Given the description of an element on the screen output the (x, y) to click on. 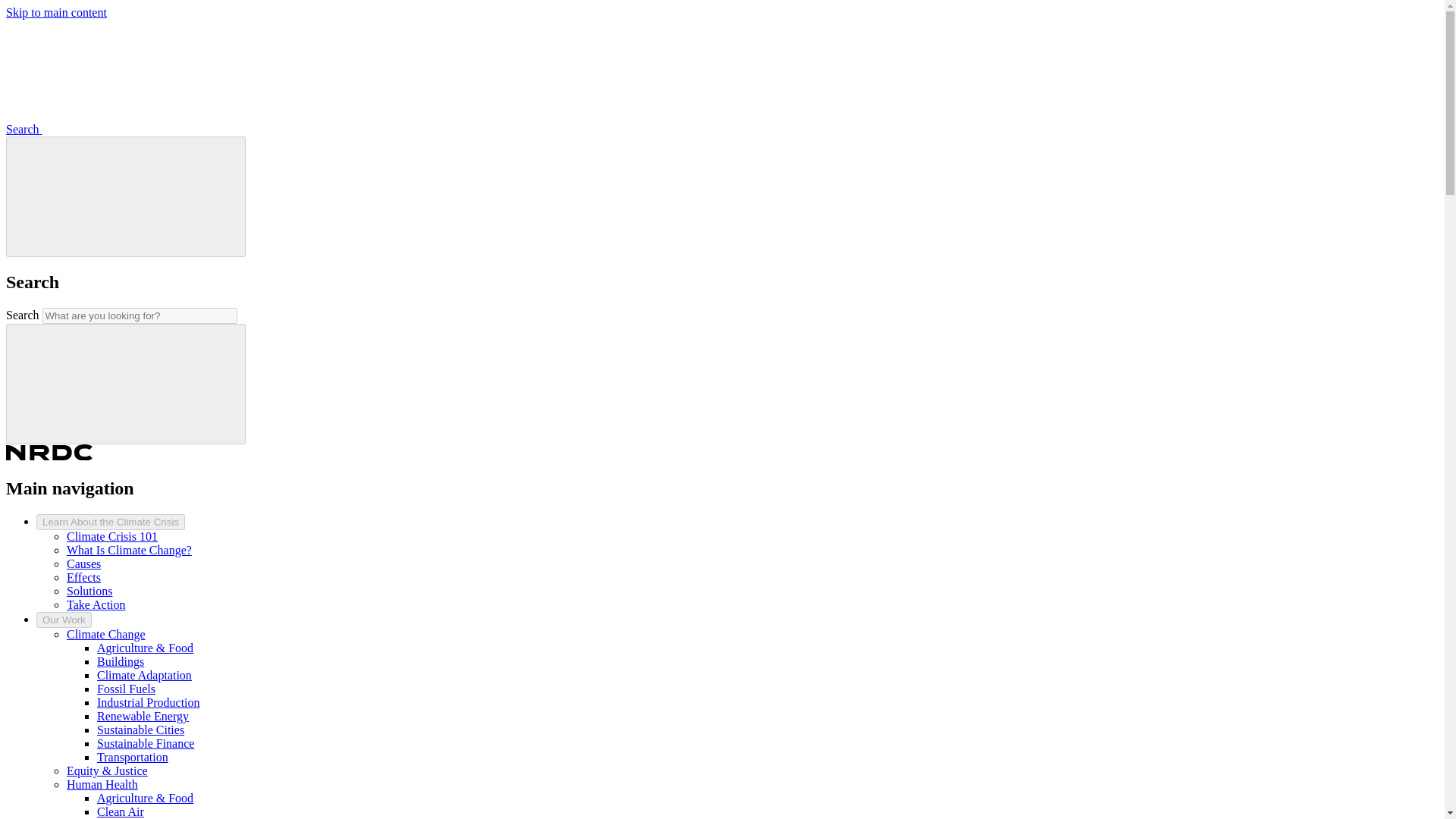
Close search (125, 195)
Renewable Energy (143, 716)
Buildings (120, 661)
NRDC (49, 455)
Climate Adaptation (144, 675)
Climate Crisis 101 (111, 535)
NRDC (49, 452)
Solutions (89, 590)
Causes (83, 563)
Skip to main content (55, 11)
